Given the description of an element on the screen output the (x, y) to click on. 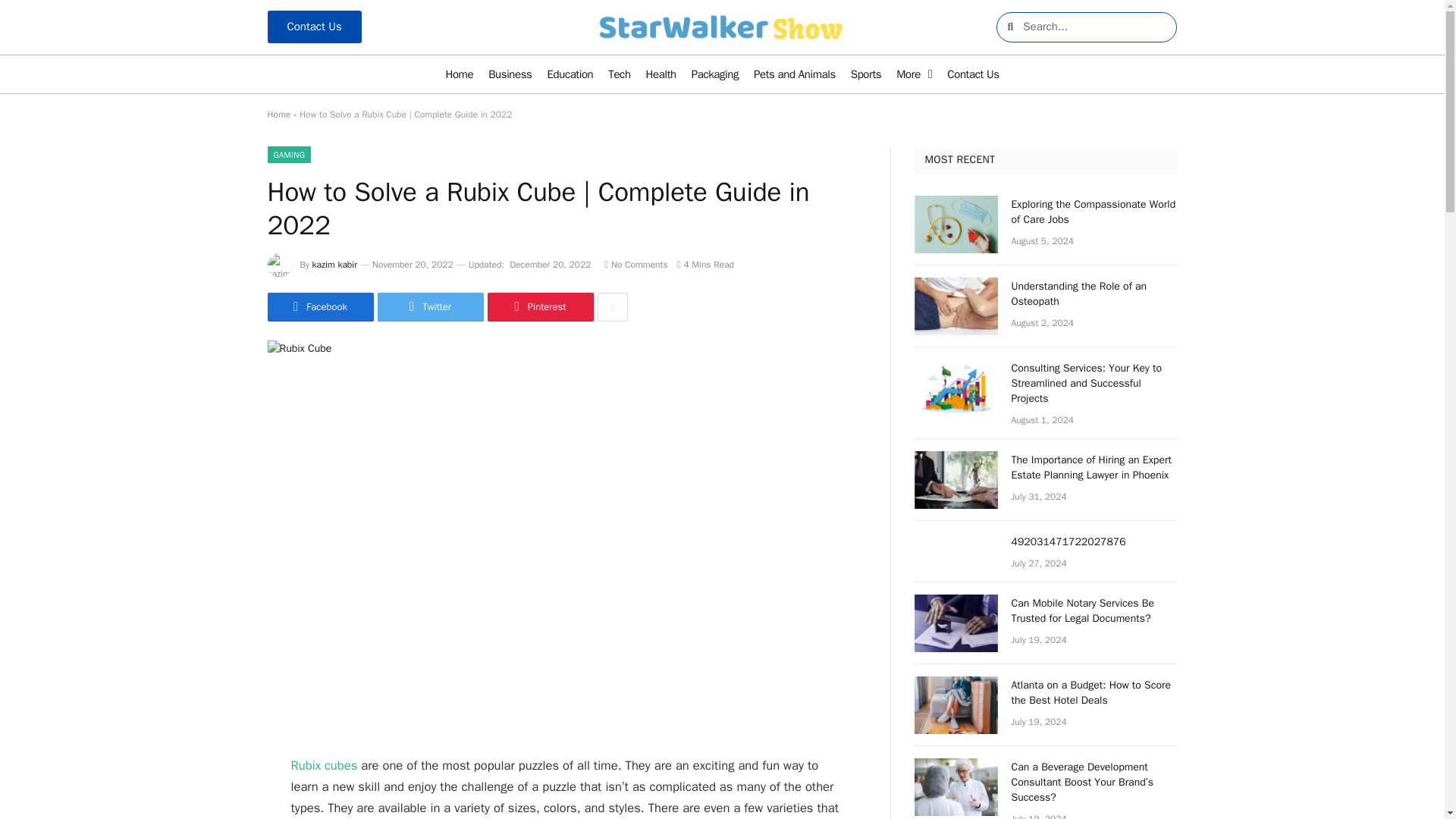
Share on Pinterest (539, 306)
Share on Facebook (319, 306)
Health (661, 74)
More (913, 74)
Business (509, 74)
Pets and Animals (794, 74)
Contact Us (972, 74)
Tech (618, 74)
Posts by kazim kabir (334, 264)
Show More Social Sharing (611, 306)
Packaging (714, 74)
Contact Us (313, 26)
Search (1094, 27)
Sports (865, 74)
Share on Twitter (430, 306)
